Given the description of an element on the screen output the (x, y) to click on. 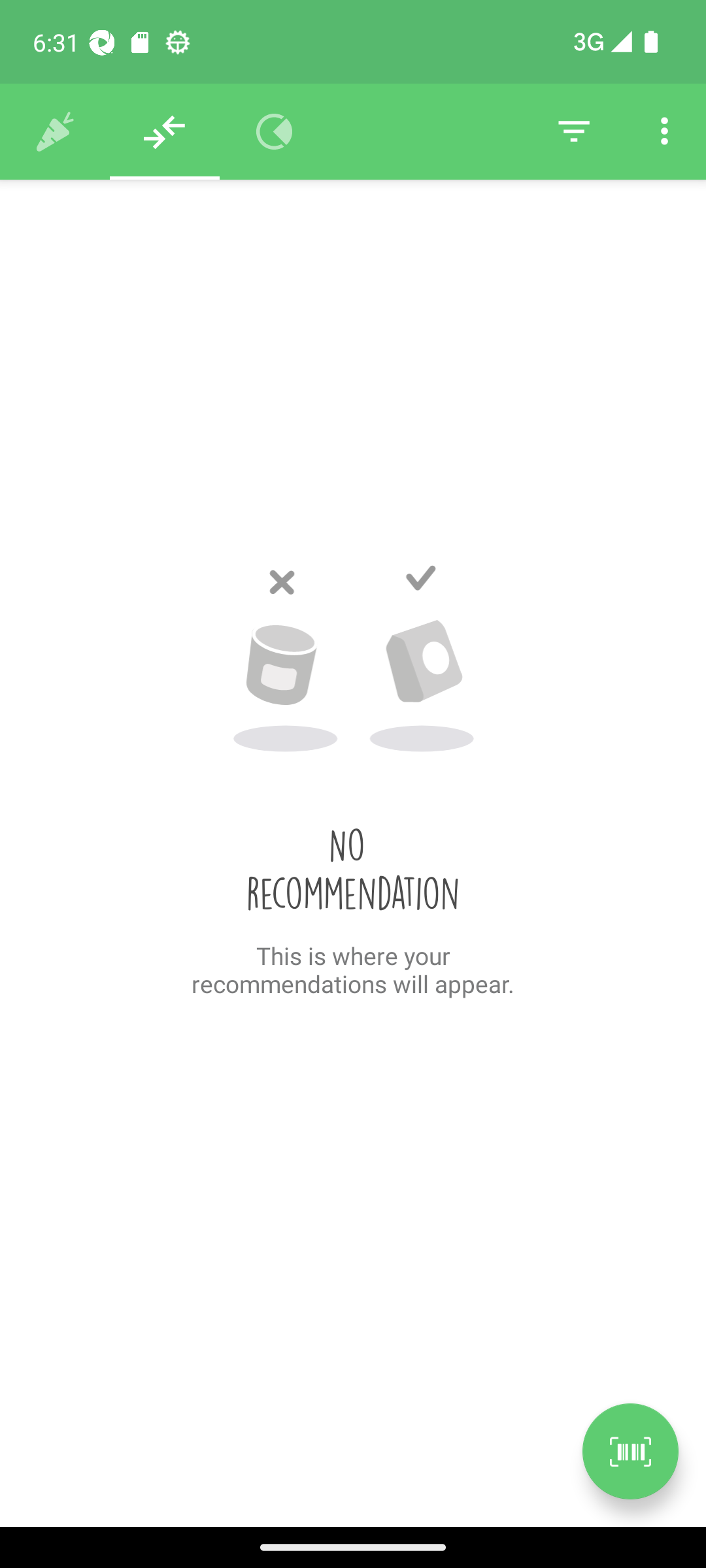
History (55, 131)
Overview (274, 131)
Filter (573, 131)
Settings (664, 131)
Scan a product (630, 1451)
